Given the description of an element on the screen output the (x, y) to click on. 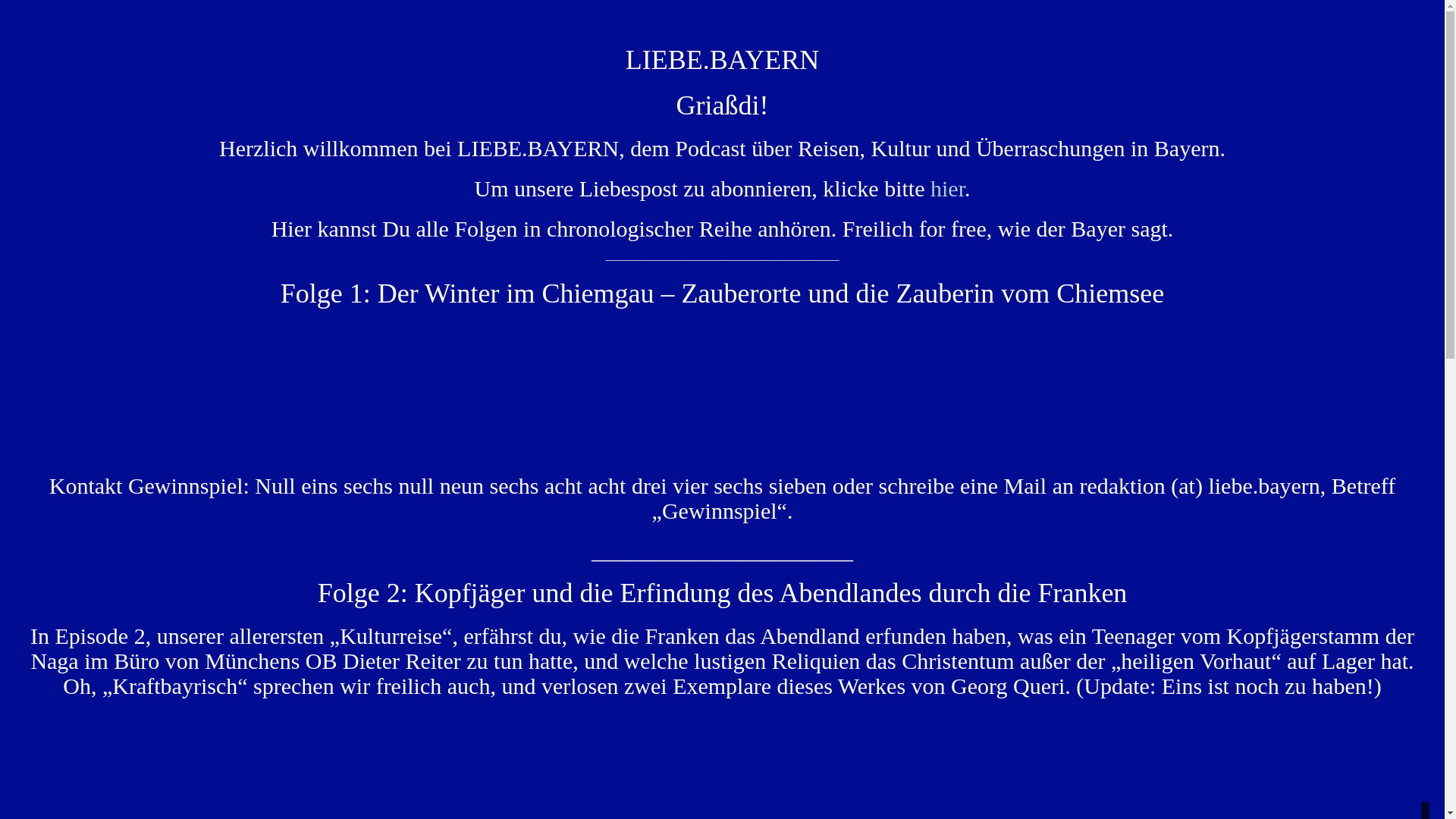
Podcast Element type: hover (722, 396)
hier Element type: text (947, 187)
